Given the description of an element on the screen output the (x, y) to click on. 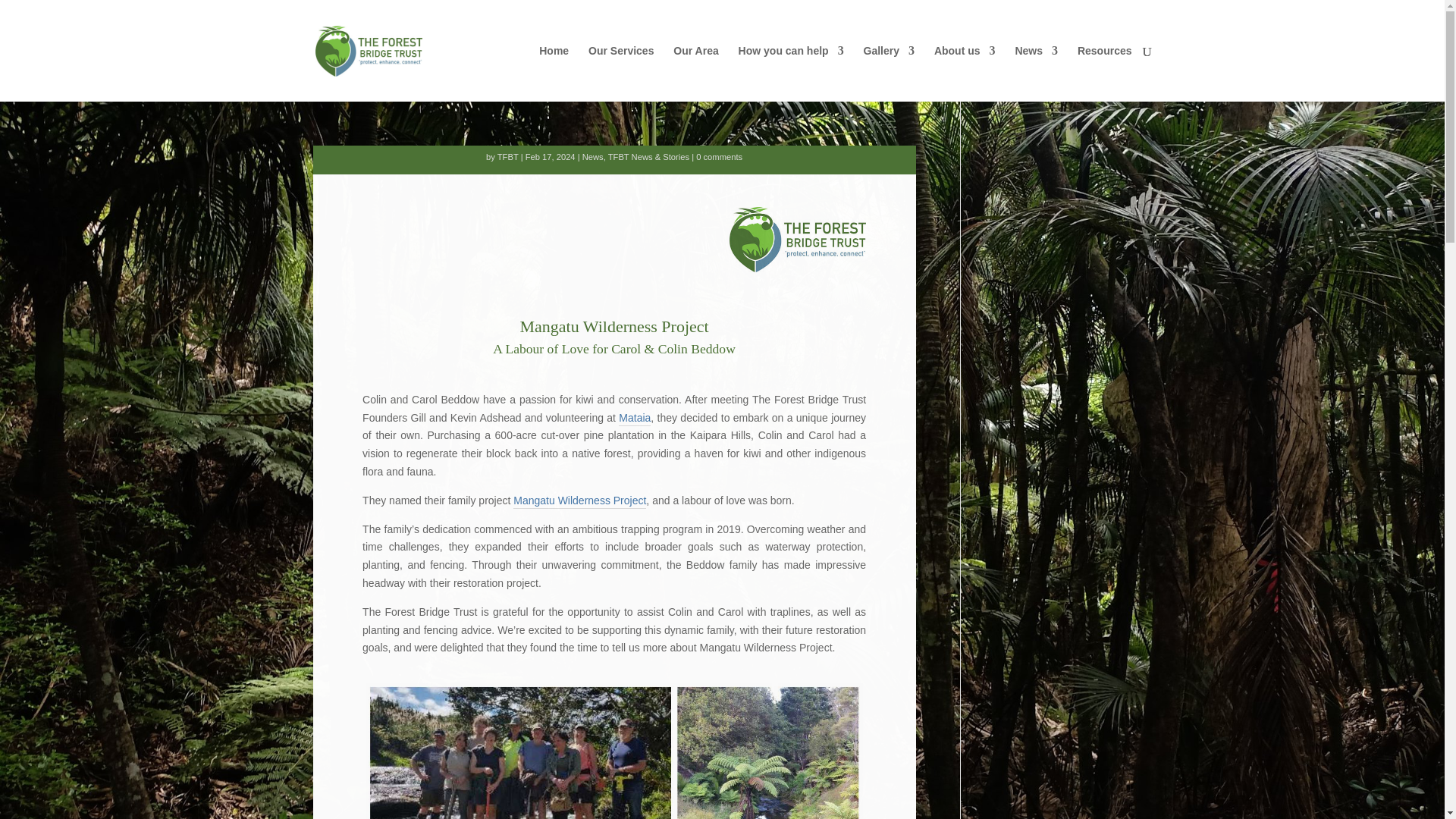
Our Services (620, 73)
Home (553, 73)
Our Area (694, 73)
Posts by TFBT (507, 156)
How you can help (791, 73)
Resources (1104, 73)
About us (964, 73)
News (1036, 73)
Gallery (888, 73)
